Given the description of an element on the screen output the (x, y) to click on. 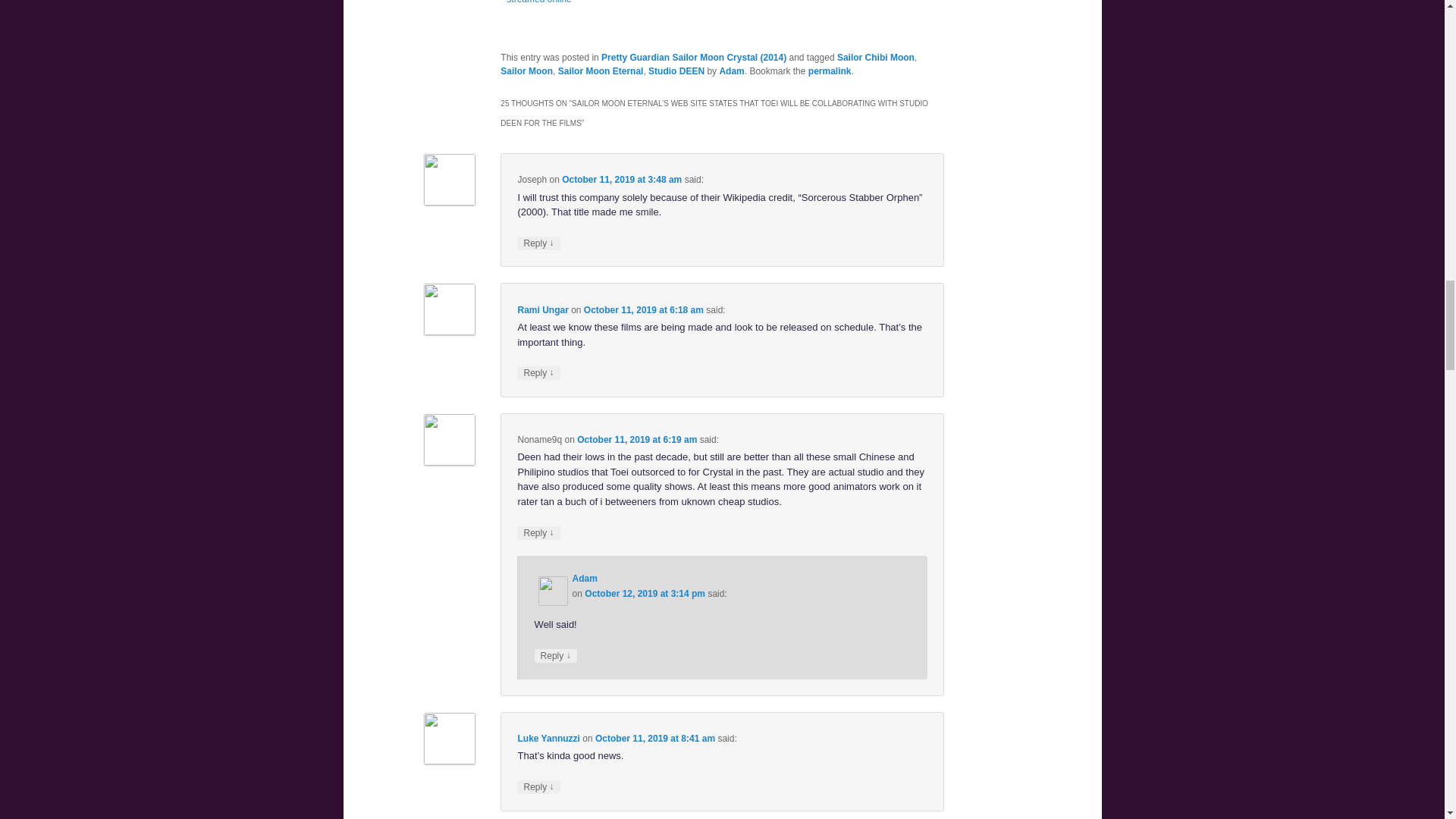
Studio DEEN (675, 71)
Sailor Chibi Moon (875, 57)
permalink (829, 71)
Sailor Moon (526, 71)
October 11, 2019 at 3:48 am (621, 179)
Adam (731, 71)
Sailor Moon Eternal (600, 71)
